Given the description of an element on the screen output the (x, y) to click on. 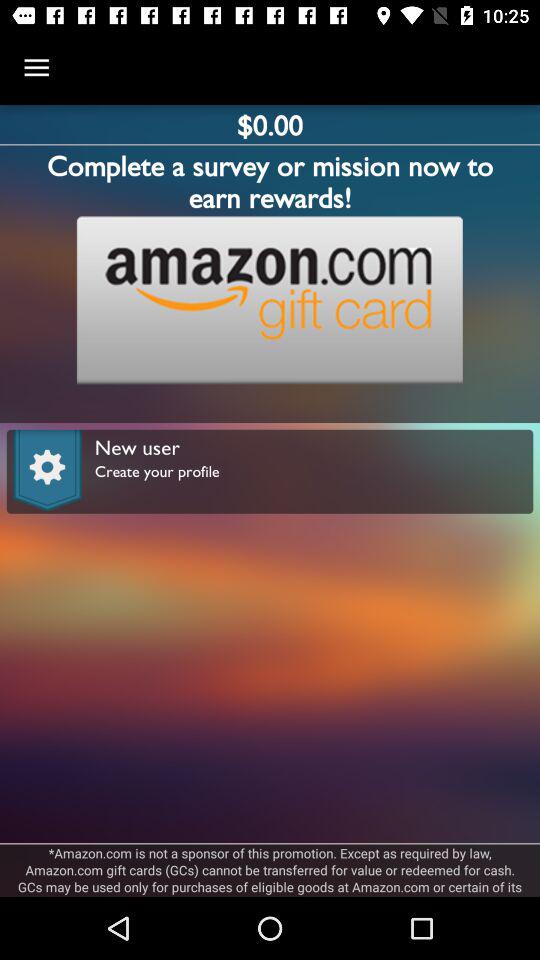
open amazon com is (269, 870)
